Given the description of an element on the screen output the (x, y) to click on. 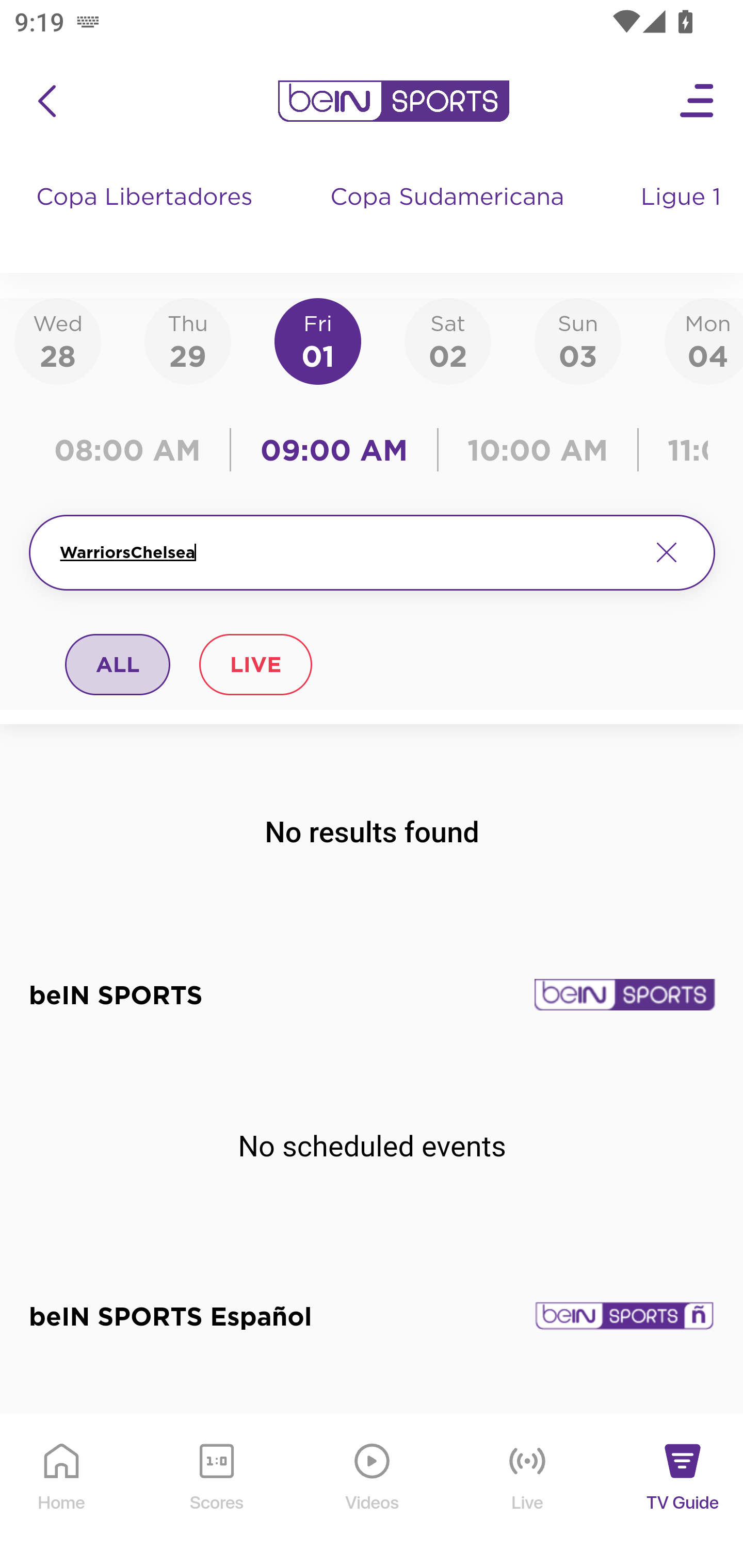
en-us?platform=mobile_android bein logo (392, 101)
icon back (46, 101)
Open Menu Icon (697, 101)
Copa Libertadores (146, 216)
Copa Sudamericana (448, 216)
Ligue 1 (682, 216)
Wed28 (58, 340)
Thu29 (187, 340)
Fri01 (318, 340)
Sat02 (447, 340)
Sun03 (578, 340)
Mon04 (703, 340)
08:00 AM (134, 449)
09:00 AM (334, 449)
10:00 AM (537, 449)
WarriorsChelsea (346, 552)
ALL (118, 663)
LIVE (255, 663)
Home Home Icon Home (61, 1491)
Scores Scores Icon Scores (216, 1491)
Videos Videos Icon Videos (372, 1491)
TV Guide TV Guide Icon TV Guide (682, 1491)
